Given the description of an element on the screen output the (x, y) to click on. 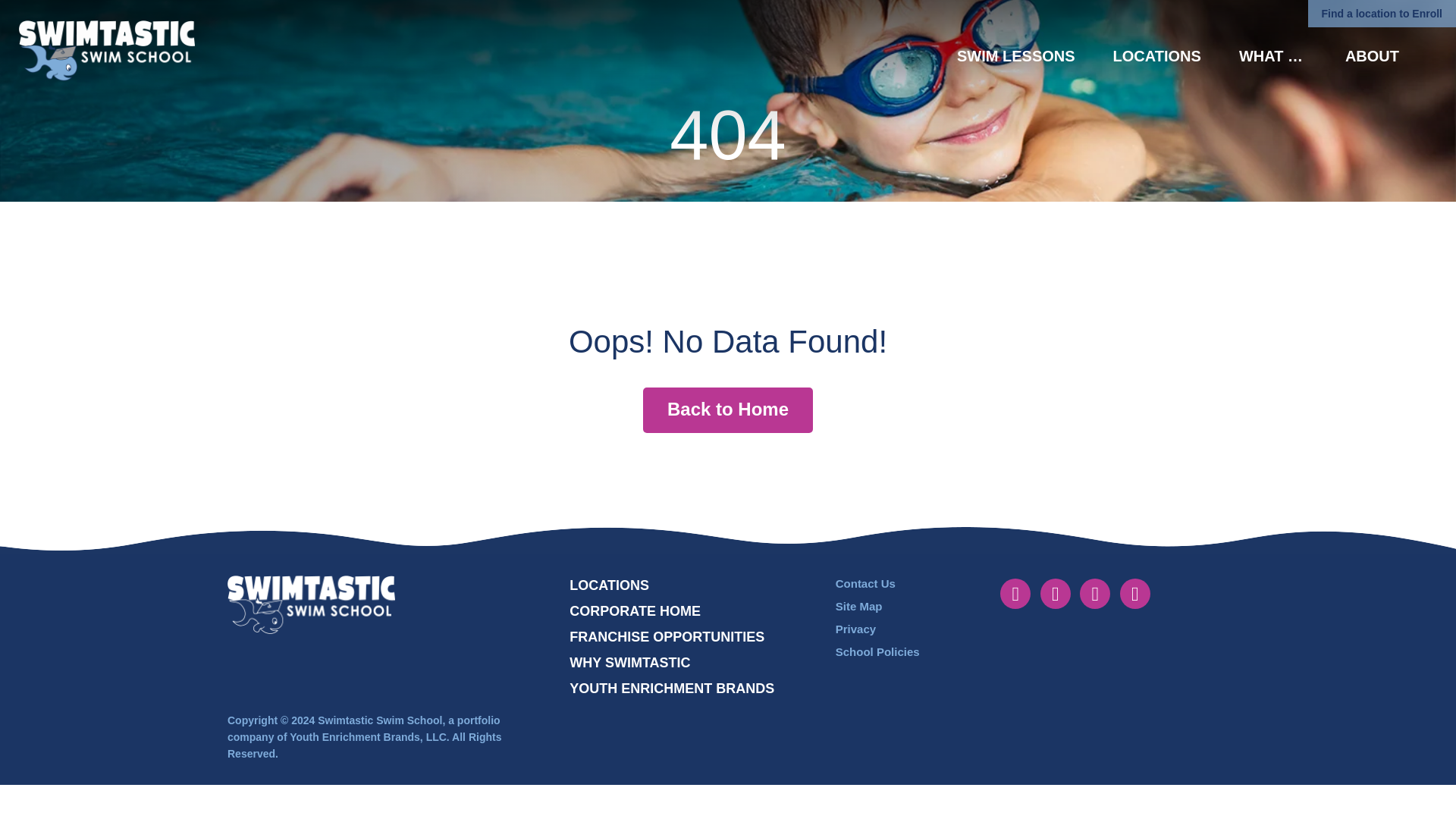
CORPORATE HOME (634, 610)
Find a location to Enroll (1382, 13)
LOCATIONS (1157, 56)
Contact Us (899, 583)
Privacy (899, 629)
School Policies (899, 651)
YOUTH ENRICHMENT BRANDS (671, 688)
Back to Home (727, 410)
FRANCHISE OPPORTUNITIES (666, 637)
LOCATIONS (609, 585)
SWIM LESSONS (1015, 56)
Site Map (899, 606)
ABOUT (1372, 56)
WHAT TO EXPECT (1273, 56)
WHY SWIMTASTIC (629, 662)
